Given the description of an element on the screen output the (x, y) to click on. 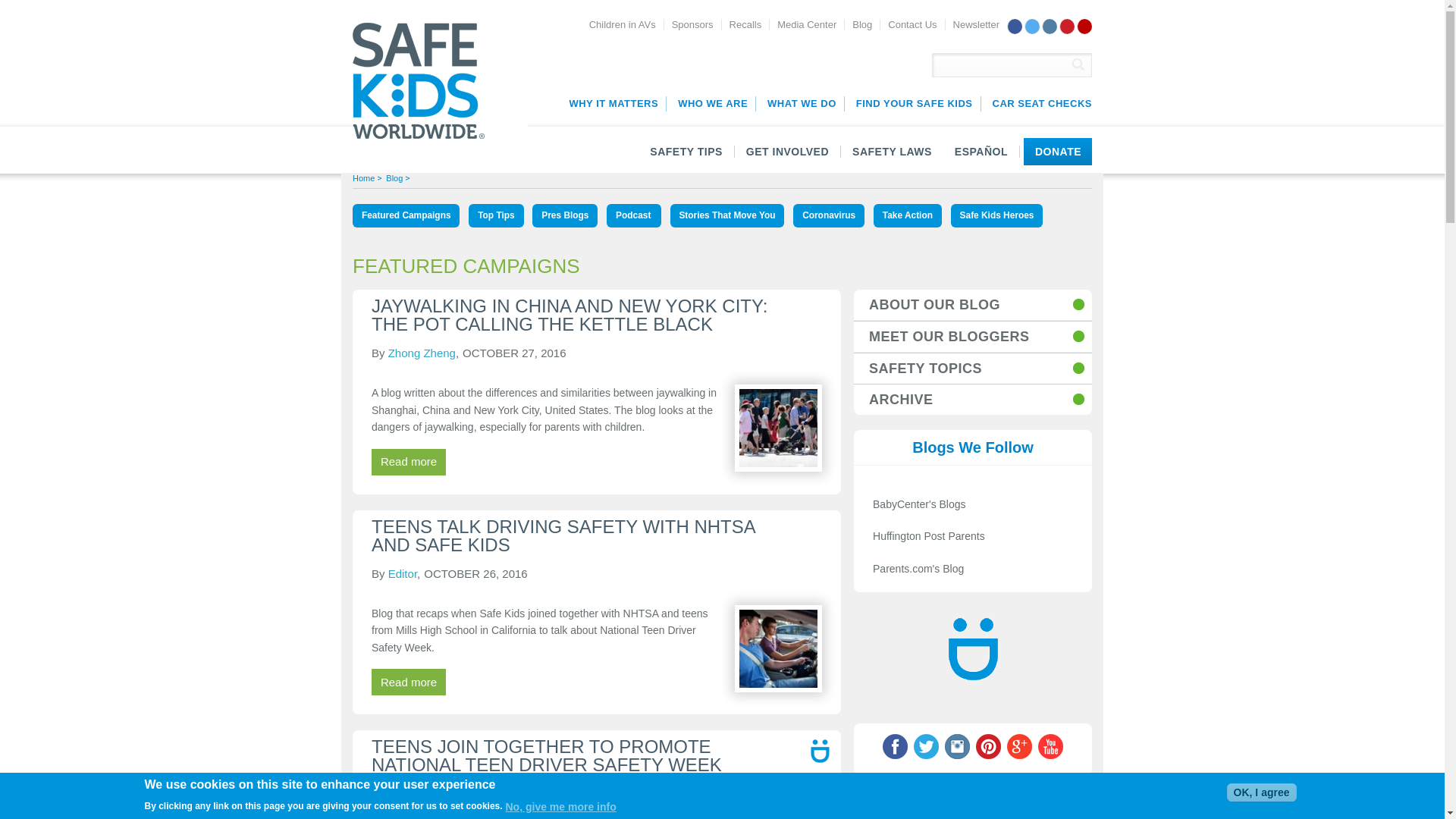
Apply (1077, 64)
pinterest (1066, 26)
Blog (861, 24)
Featured Campaigns (406, 215)
Podcast (634, 215)
SAFETY TIPS (686, 151)
Read or Sign Up for SKW Newsltters (975, 24)
Home (363, 177)
TEENS TALK DRIVING SAFETY WITH NHTSA AND SAFE KIDS (562, 535)
WHY IT MATTERS (611, 103)
Car Seat Events (1037, 103)
Recalls (745, 24)
Zhong Zheng (421, 352)
